Given the description of an element on the screen output the (x, y) to click on. 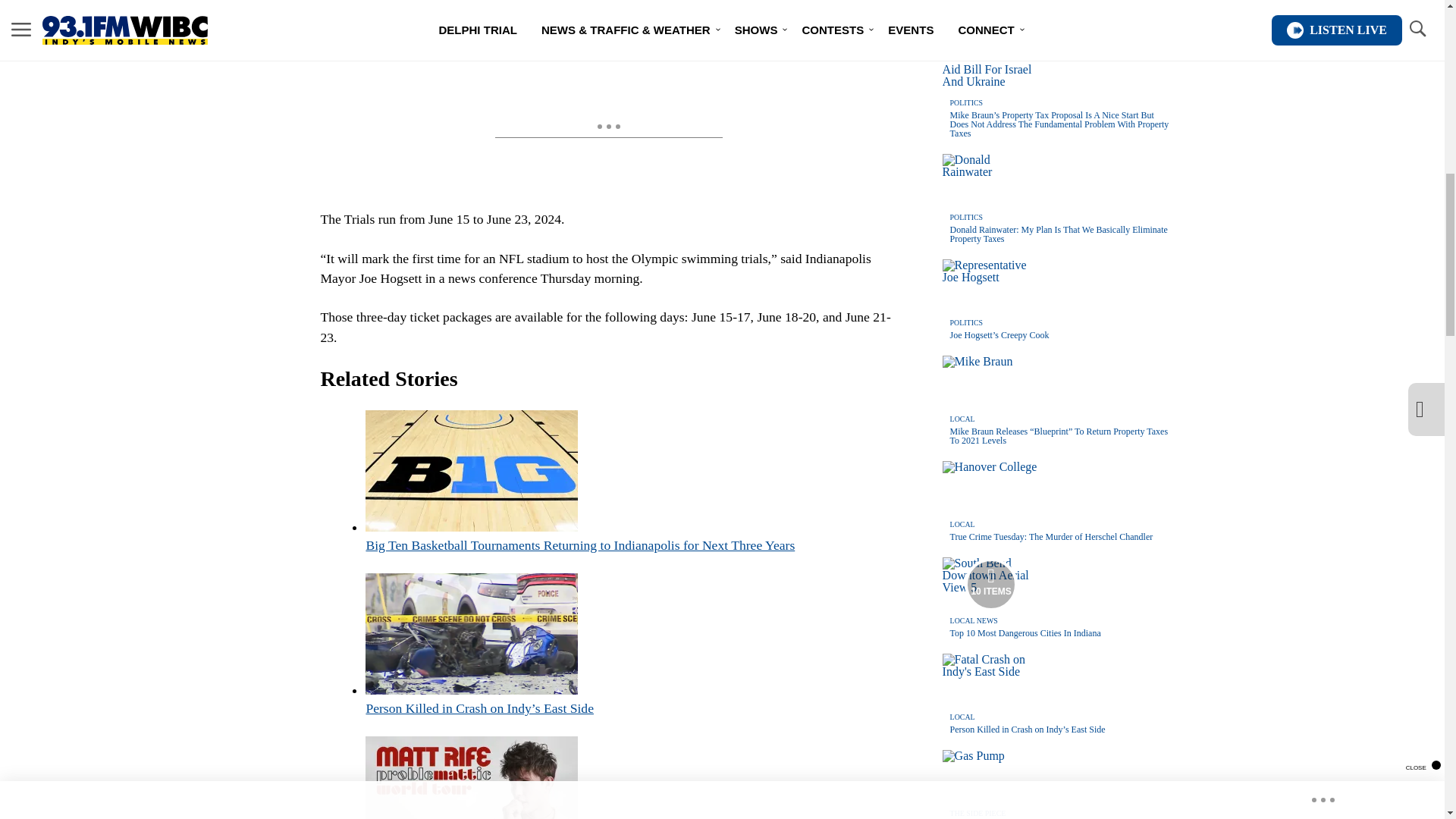
Media Playlist (990, 583)
